Given the description of an element on the screen output the (x, y) to click on. 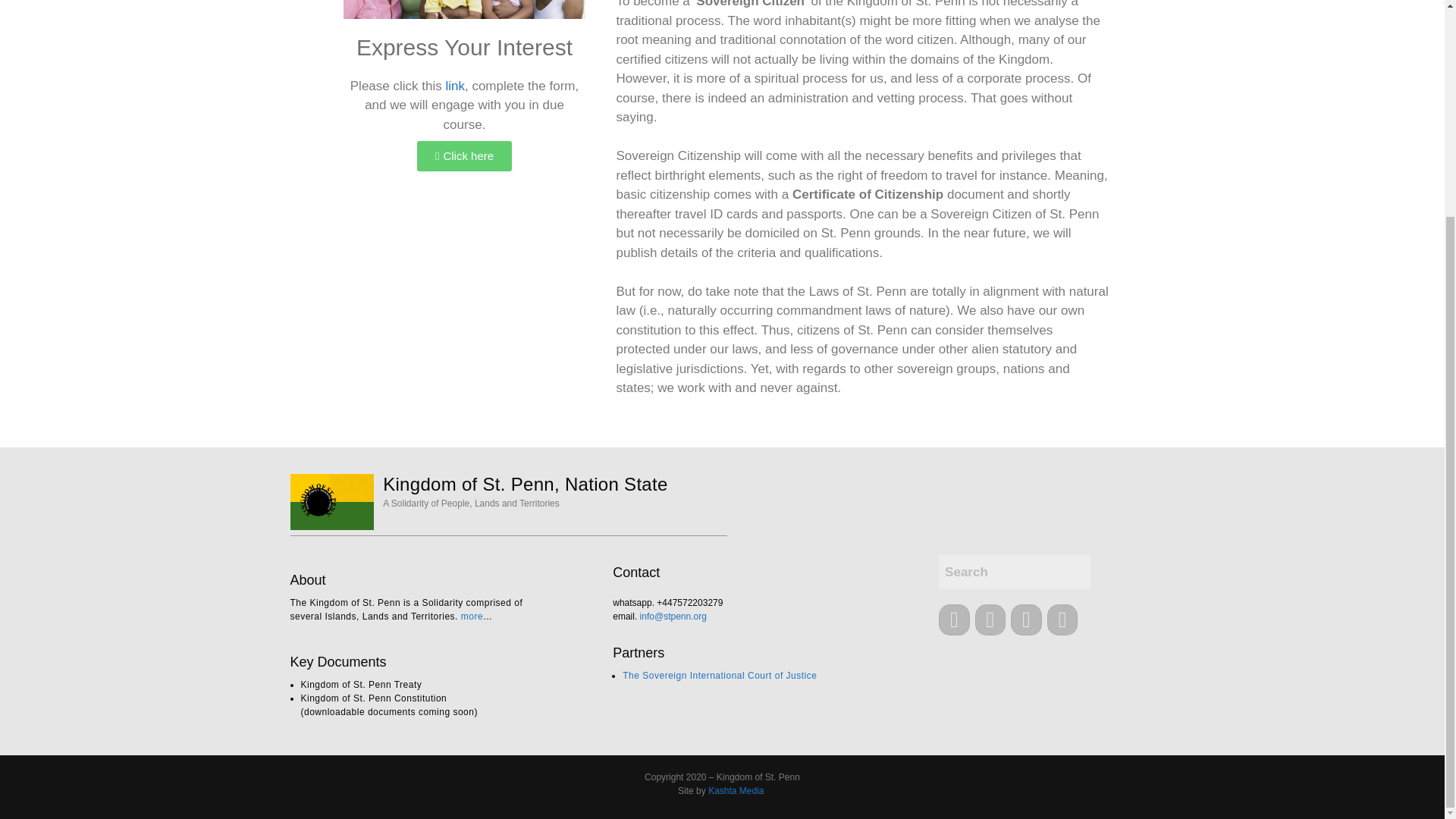
The Sovereign International Court of Justice (719, 675)
link (454, 85)
Search (1014, 572)
Kashta Media (734, 790)
Click here (464, 155)
more (472, 615)
